Given the description of an element on the screen output the (x, y) to click on. 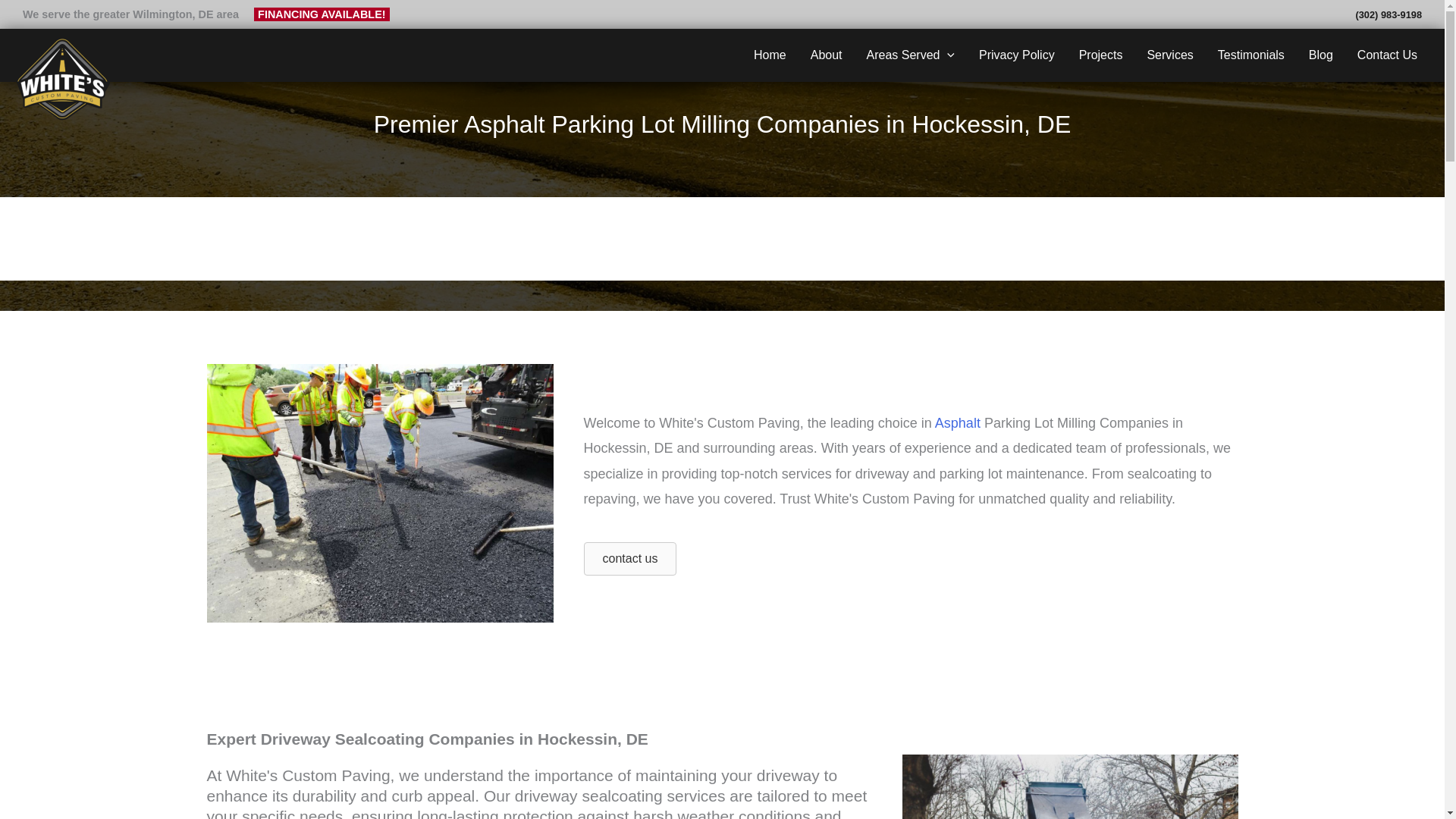
About (825, 55)
1000176384 (379, 493)
Areas Served (911, 55)
Home (769, 55)
1000176369 (1070, 786)
